Given the description of an element on the screen output the (x, y) to click on. 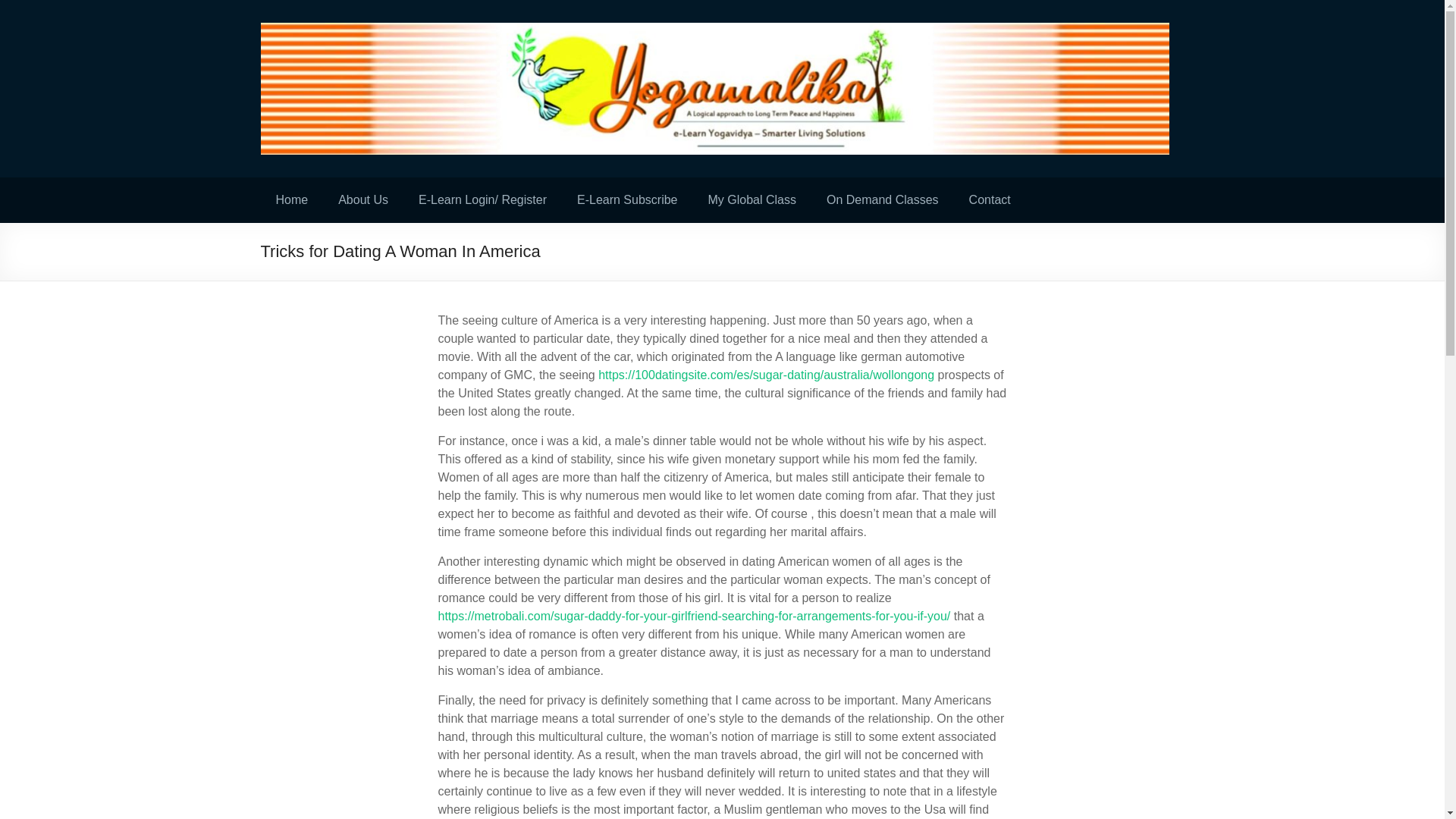
Home (291, 199)
Contact (989, 199)
E-Learn Subscribe (627, 199)
My Global Class (751, 199)
About Us (363, 199)
On Demand Classes (881, 199)
